Given the description of an element on the screen output the (x, y) to click on. 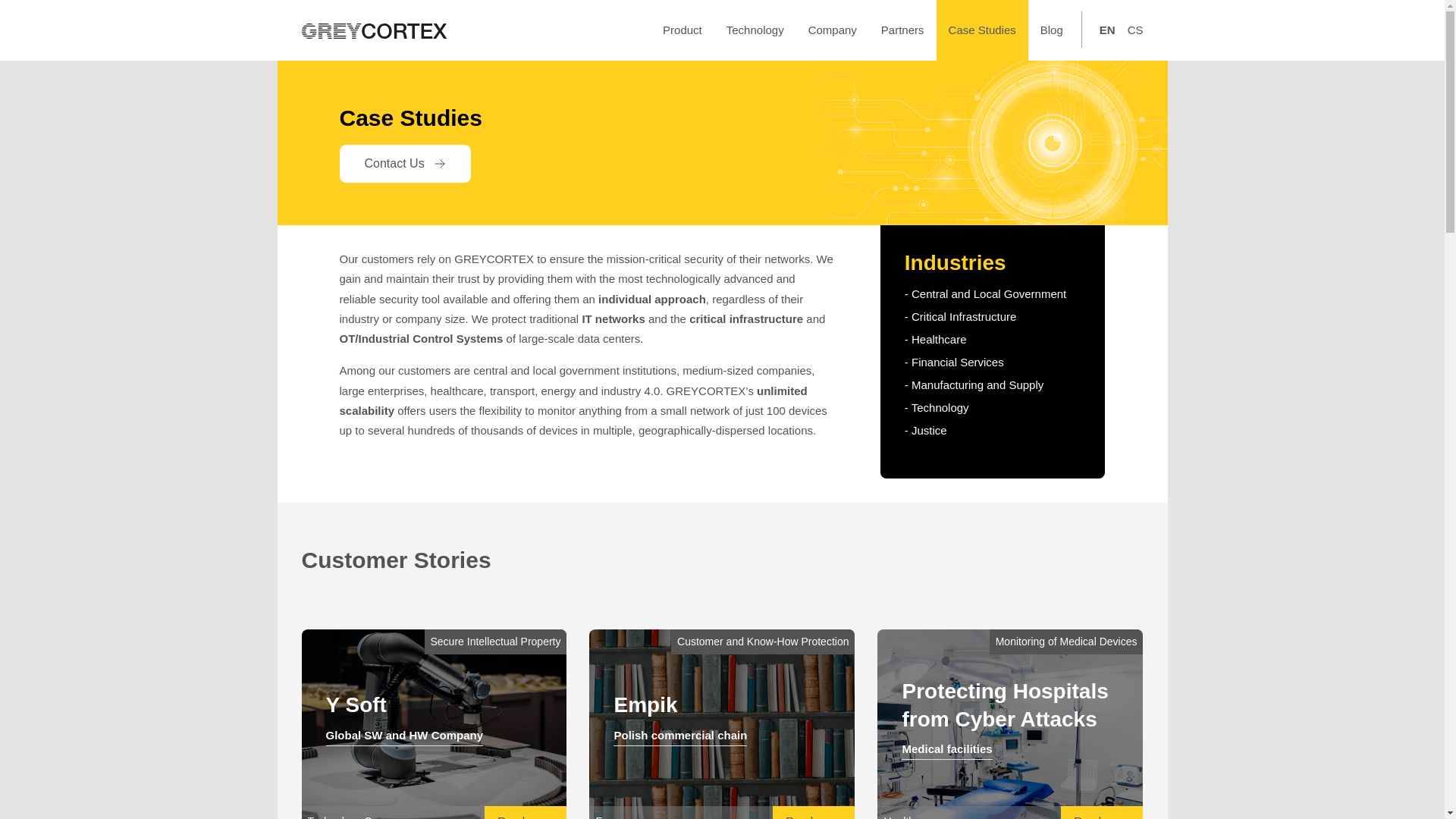
Product (682, 30)
Partners (902, 30)
Case Studies (981, 30)
Contact Us (404, 163)
Technology (755, 30)
Company (832, 30)
